Given the description of an element on the screen output the (x, y) to click on. 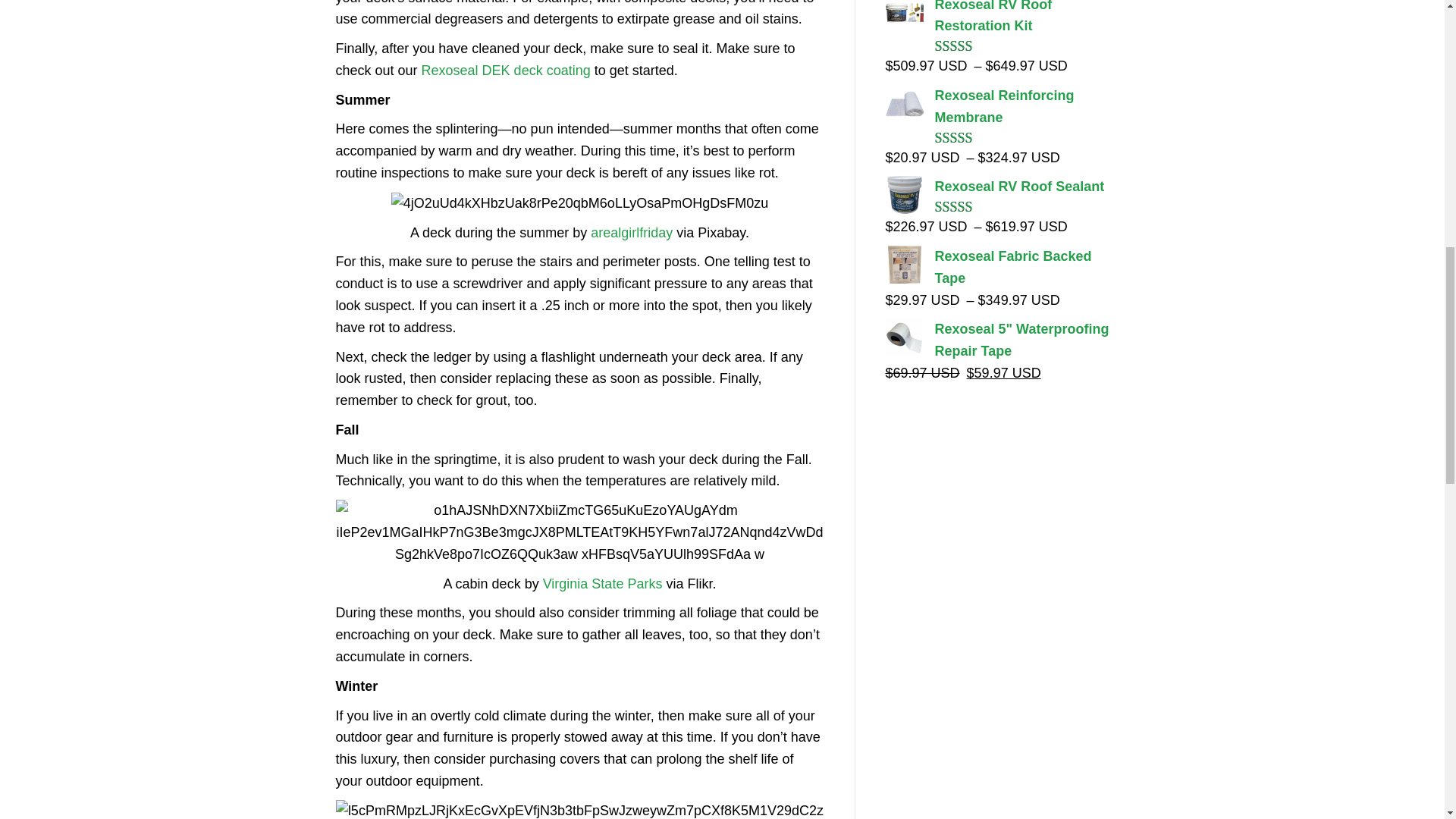
Rexoseal RV Roof Restoration Kit (997, 18)
arealgirlfriday (631, 232)
Rexoseal Reinforcing Membrane (997, 106)
4jO2uUd4kXHbzUak8rPe20qbM6oLLyOsaPmOHgDsFM0zu (579, 203)
Virginia State Parks (602, 583)
Rexoseal DEK deck coating (506, 70)
Rexoseal RV Roof Sealant (997, 187)
